Given the description of an element on the screen output the (x, y) to click on. 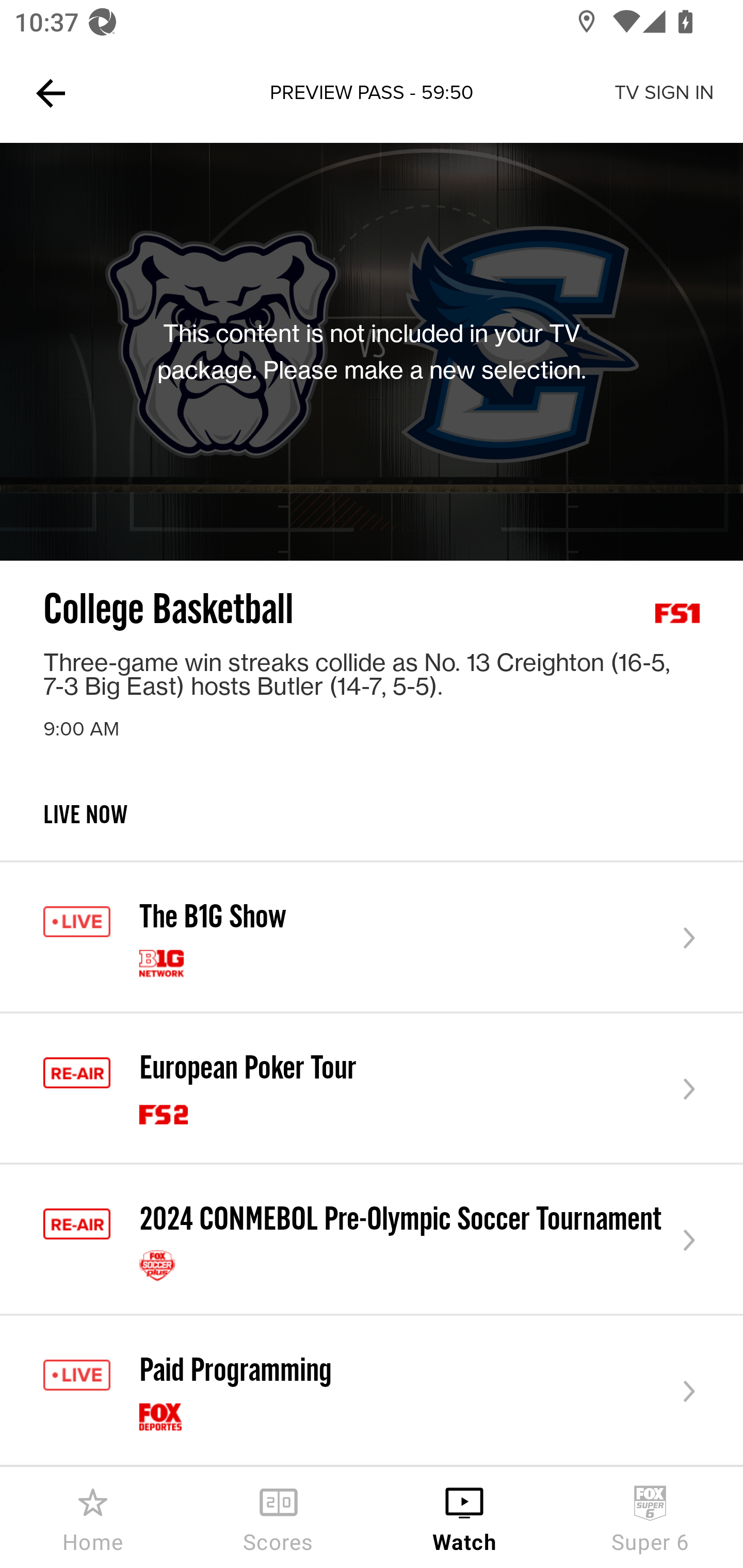
Navigate up (50, 92)
TV SIGN IN (664, 93)
LIVE NOW (371, 830)
The B1G Show (371, 937)
European Poker Tour (371, 1088)
2024 CONMEBOL Pre-Olympic Soccer Tournament (371, 1240)
Paid Programming (371, 1391)
Home (92, 1517)
Scores (278, 1517)
Super 6 (650, 1517)
